Given the description of an element on the screen output the (x, y) to click on. 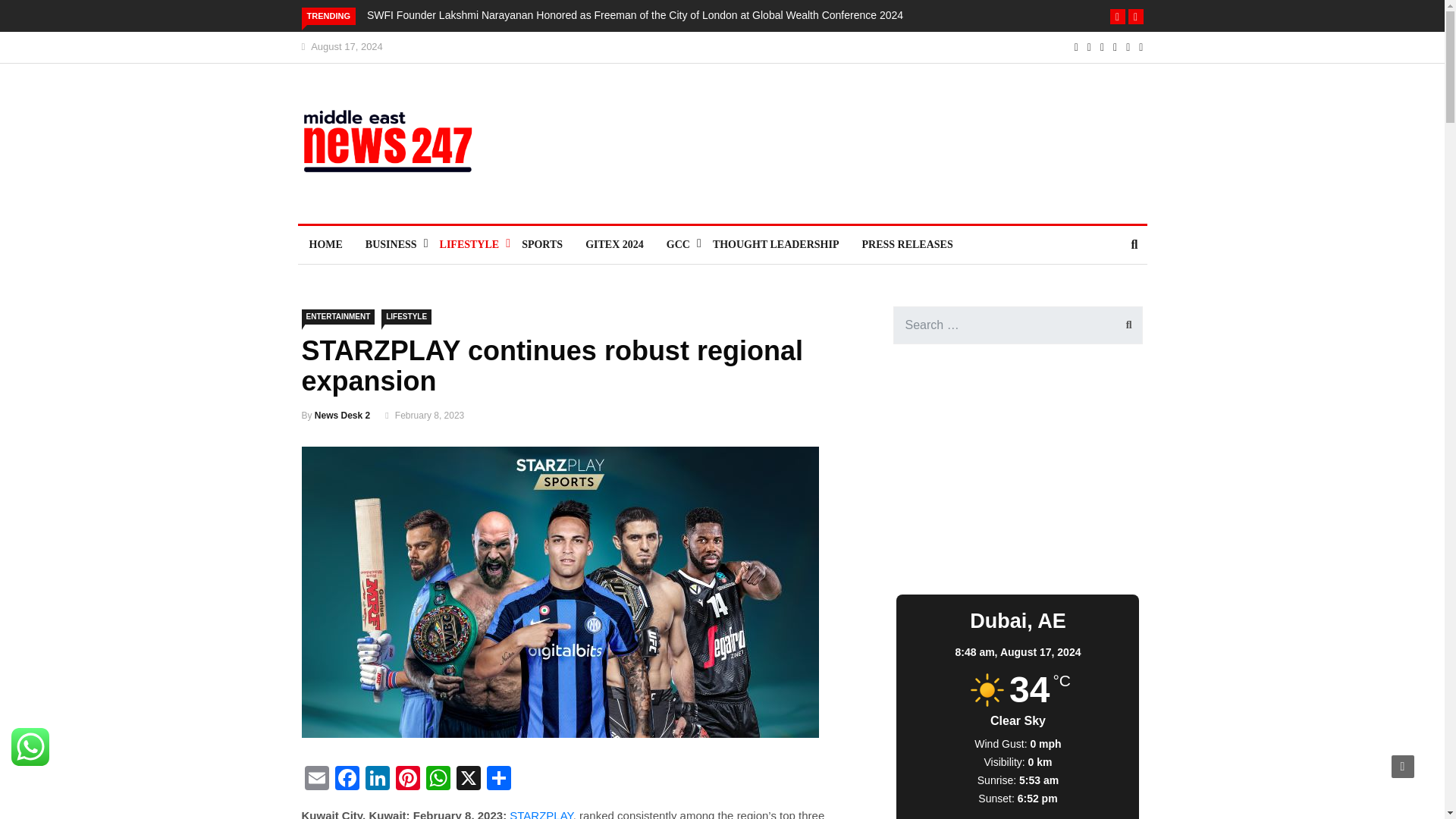
BUSINESS (390, 244)
HOME (325, 244)
Advertisement (792, 142)
logo (398, 148)
